Given the description of an element on the screen output the (x, y) to click on. 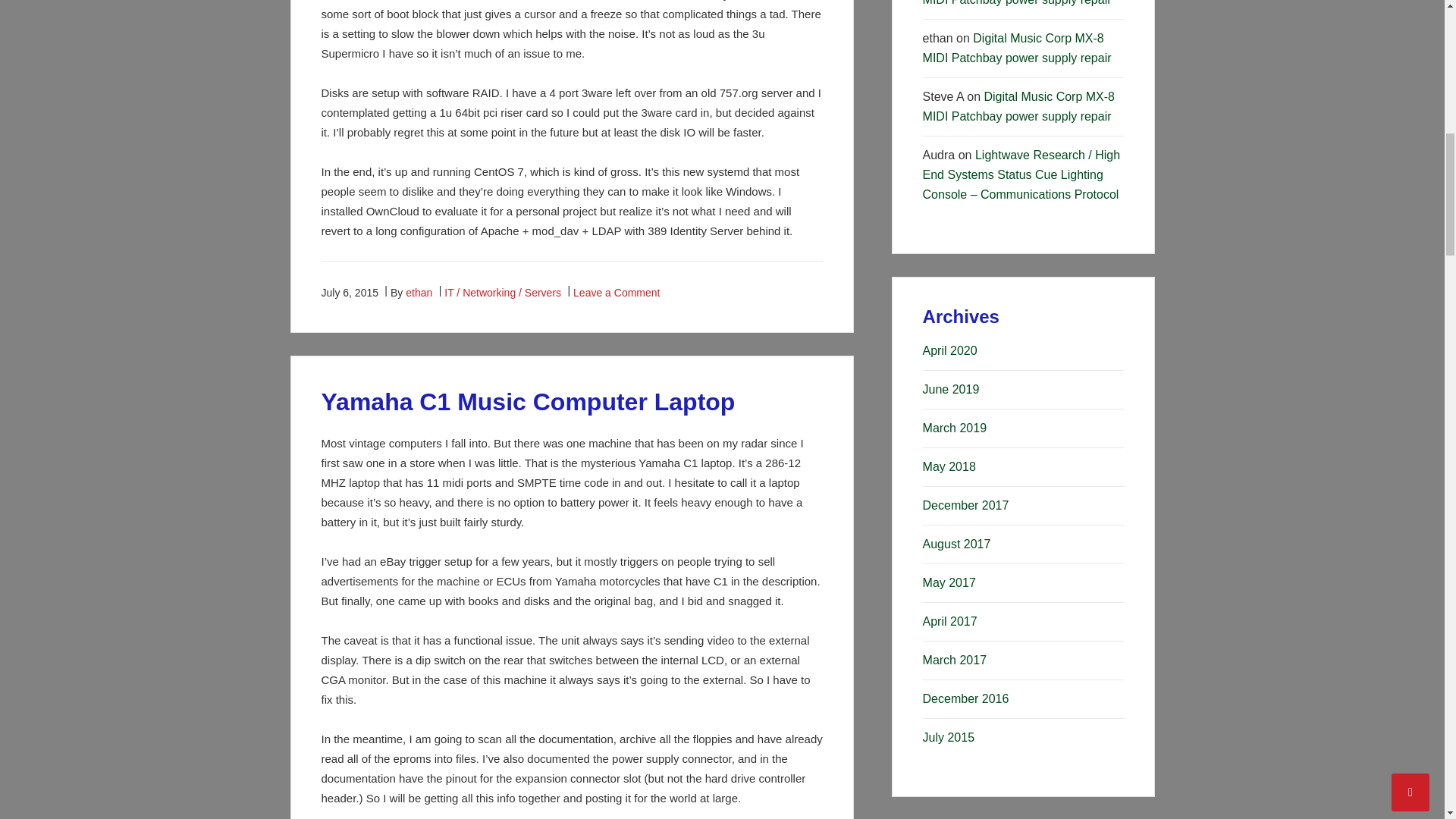
Leave a Comment (616, 292)
View all posts by ethan (419, 292)
June 2019 (951, 389)
Digital Music Corp MX-8 MIDI Patchbay power supply repair (1019, 106)
Digital Music Corp MX-8 MIDI Patchbay power supply repair (1017, 47)
May 2017 (949, 582)
Digital Music Corp MX-8 MIDI Patchbay power supply repair (1017, 2)
March 2019 (955, 427)
December 2017 (966, 504)
August 2017 (957, 543)
May 2018 (949, 466)
ethan (419, 292)
April 2017 (949, 621)
Yamaha C1 Music Computer Laptop (528, 401)
April 2020 (949, 350)
